Given the description of an element on the screen output the (x, y) to click on. 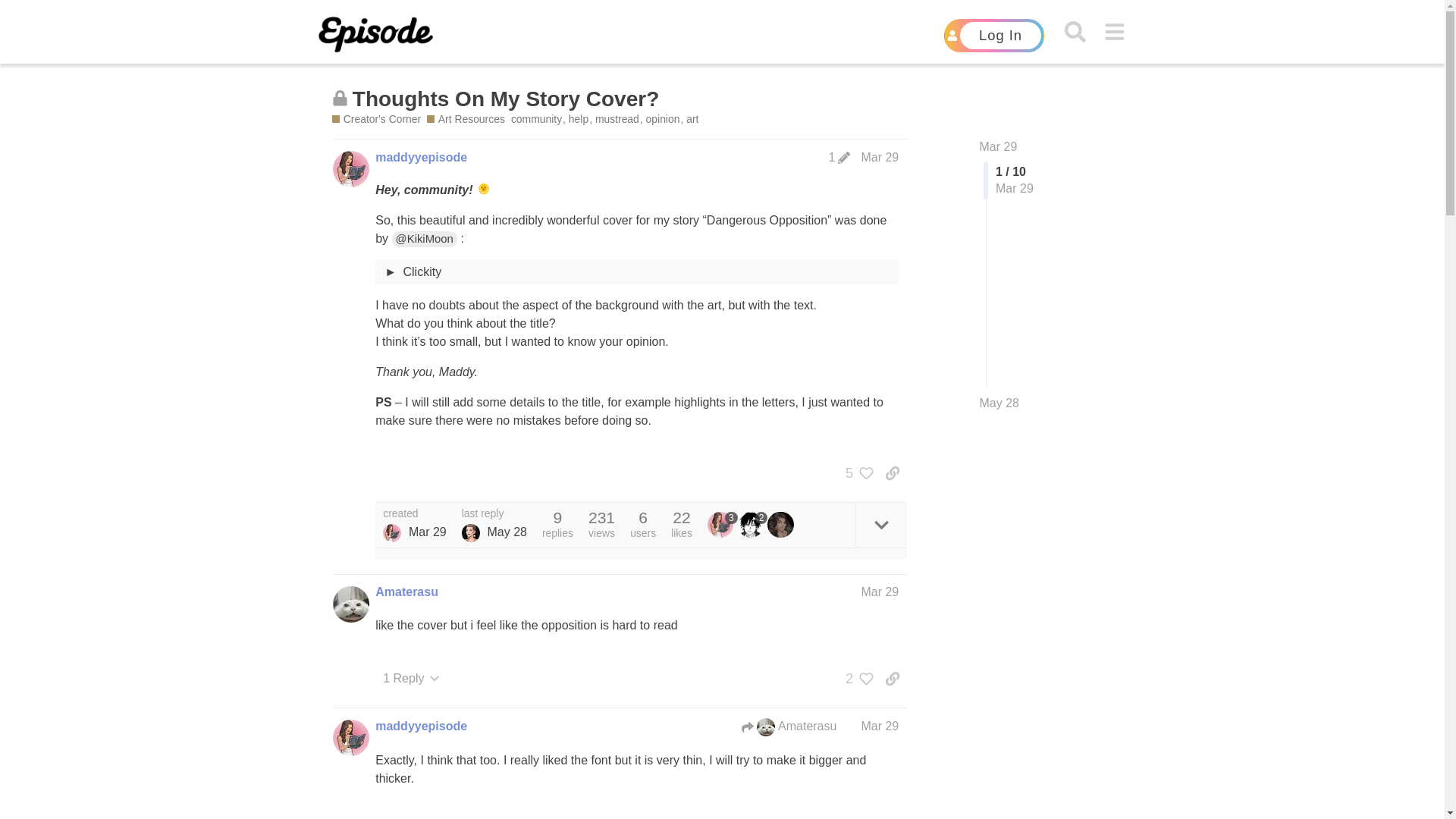
2 (855, 678)
Post date (879, 156)
Creator's Corner (375, 119)
art (691, 119)
Search (1074, 32)
Jump to the last post (999, 402)
Art Resources (465, 119)
Thoughts On My Story Cover? (505, 98)
5 (855, 473)
Jump to the first post (998, 146)
last reply (494, 513)
Mar 29 (879, 156)
Mar 29 (998, 146)
1 (840, 157)
Maddy (391, 533)
